Given the description of an element on the screen output the (x, y) to click on. 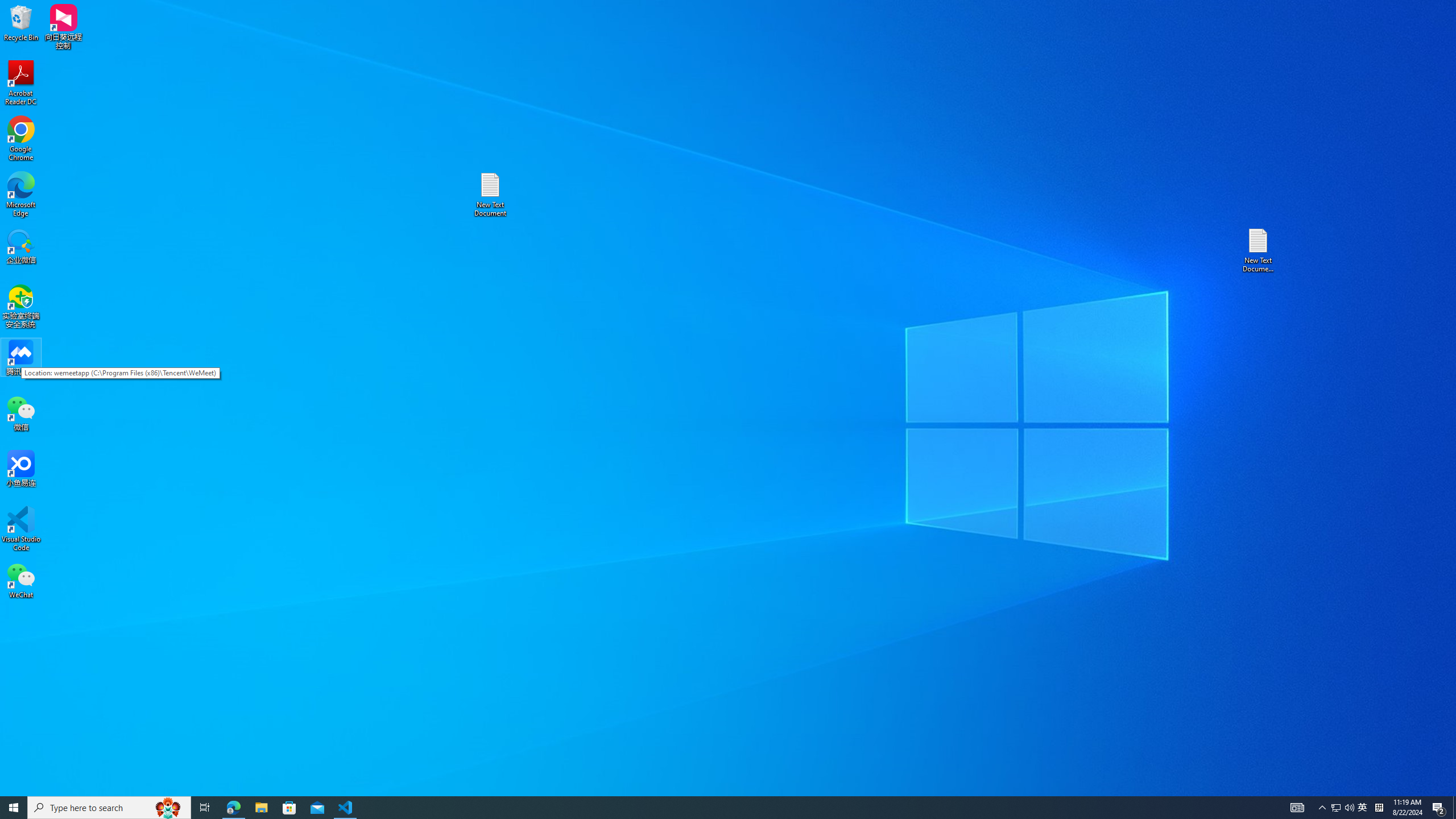
New Text Document (2) (1258, 250)
WeChat (21, 580)
Start (13, 807)
